Given the description of an element on the screen output the (x, y) to click on. 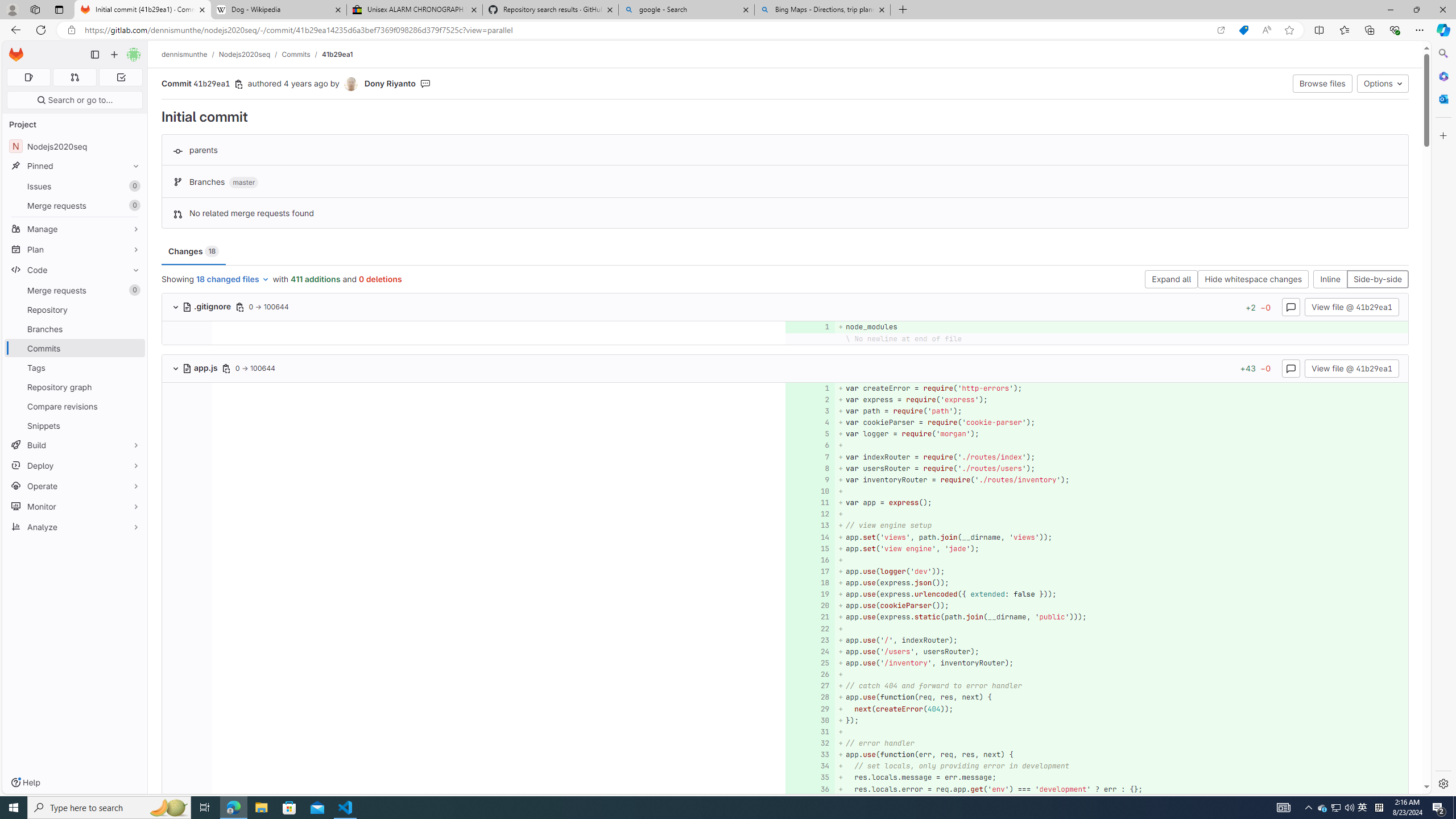
2 (808, 399)
+ var express = require('express');  (1120, 399)
Add a comment to this line 34 (809, 766)
+ app.use(cookieParser());  (1120, 605)
Class: s16 (187, 368)
Side-by-side (1377, 279)
+ var indexRouter = require('./routes/index');  (1120, 456)
Dony Riyanto (390, 83)
master (243, 182)
Class: s16 gl-icon gl-button-icon  (1291, 368)
Issues 0 (74, 185)
+ app.use(logger('dev'));  (1120, 571)
